Given the description of an element on the screen output the (x, y) to click on. 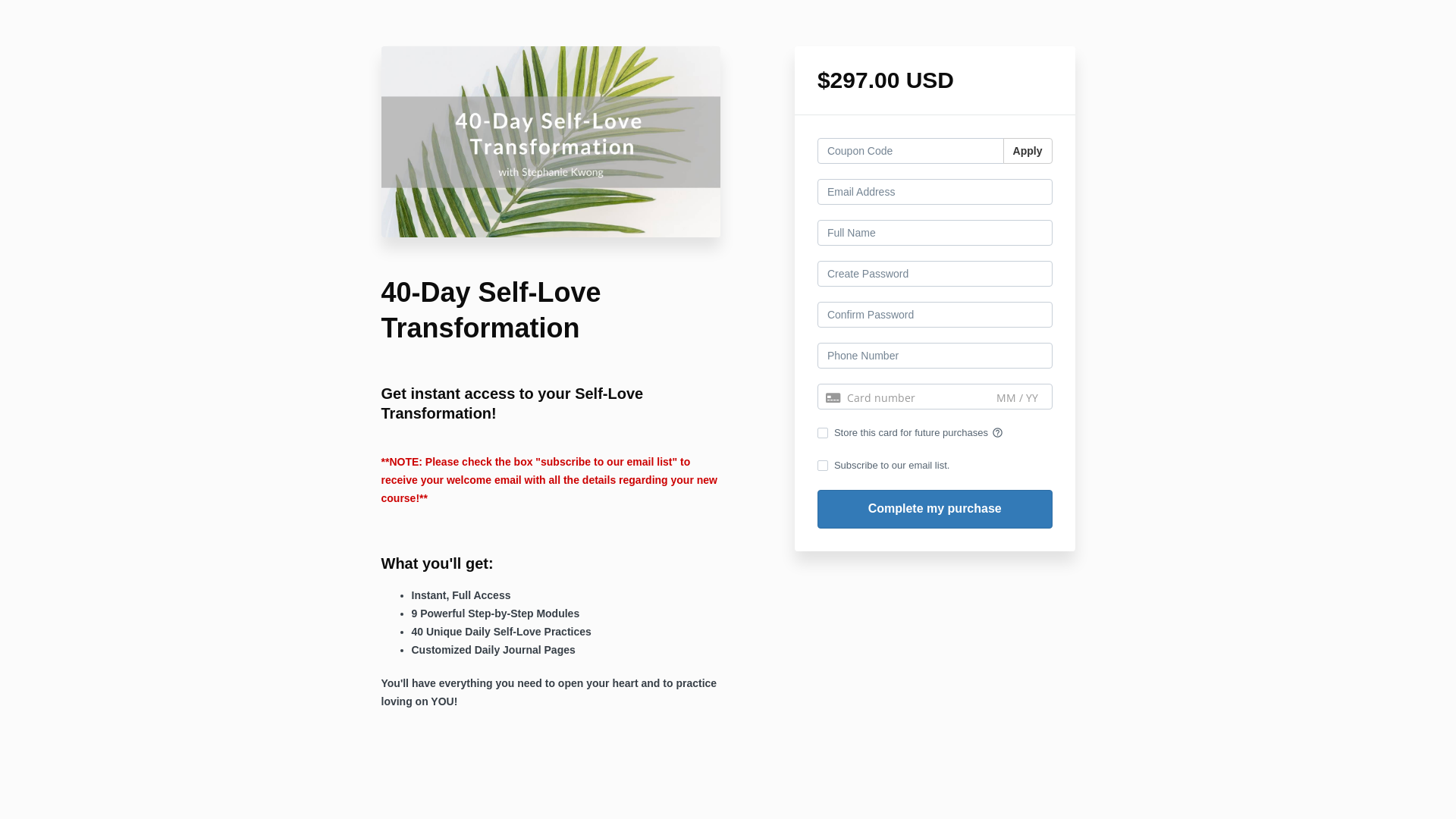
Secure card payment input frame Element type: hover (934, 397)
Apply Element type: text (1027, 150)
Complete my purchase Element type: text (934, 508)
